Given the description of an element on the screen output the (x, y) to click on. 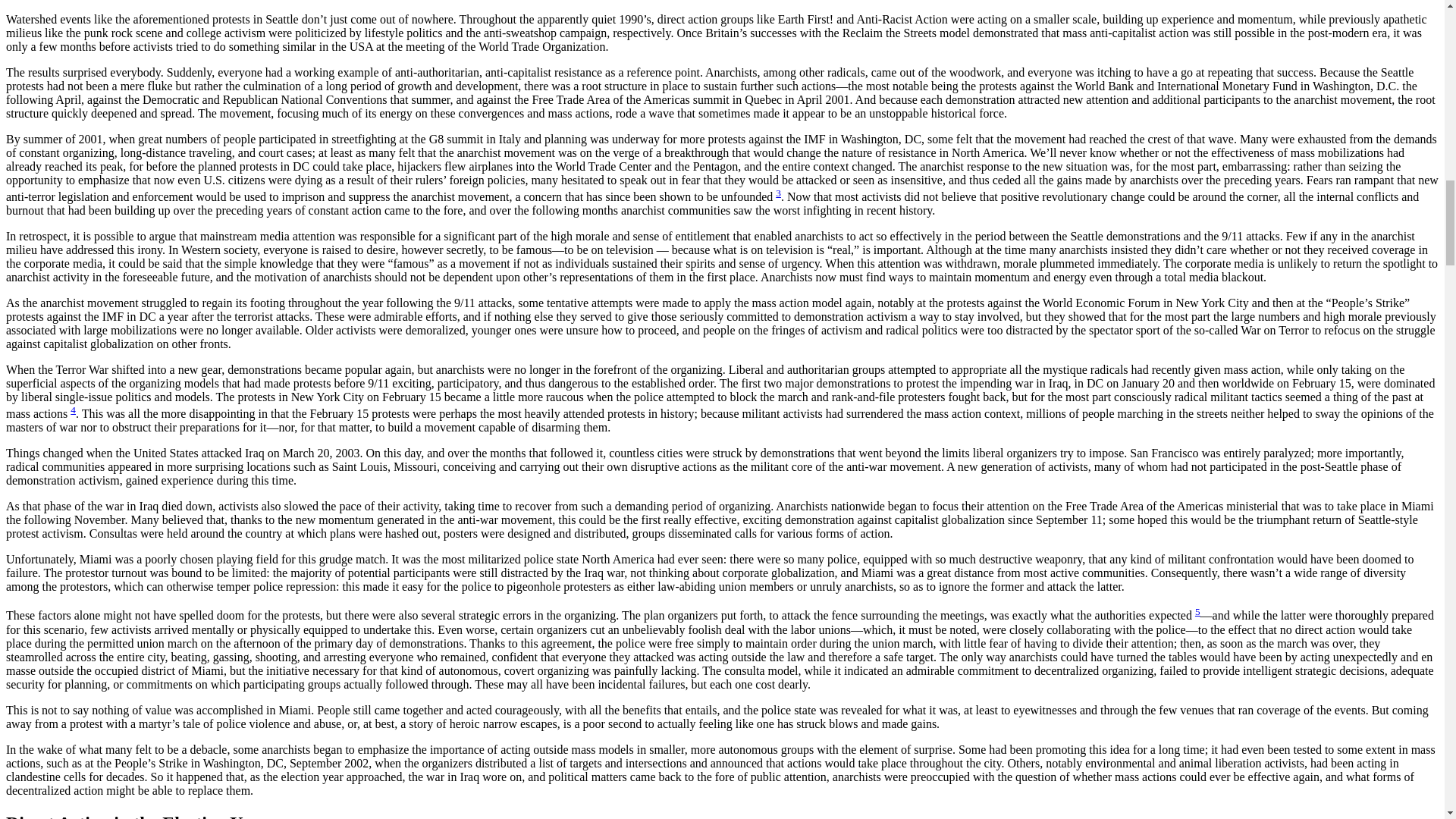
3 (778, 193)
4 (72, 409)
5 (1197, 611)
